Given the description of an element on the screen output the (x, y) to click on. 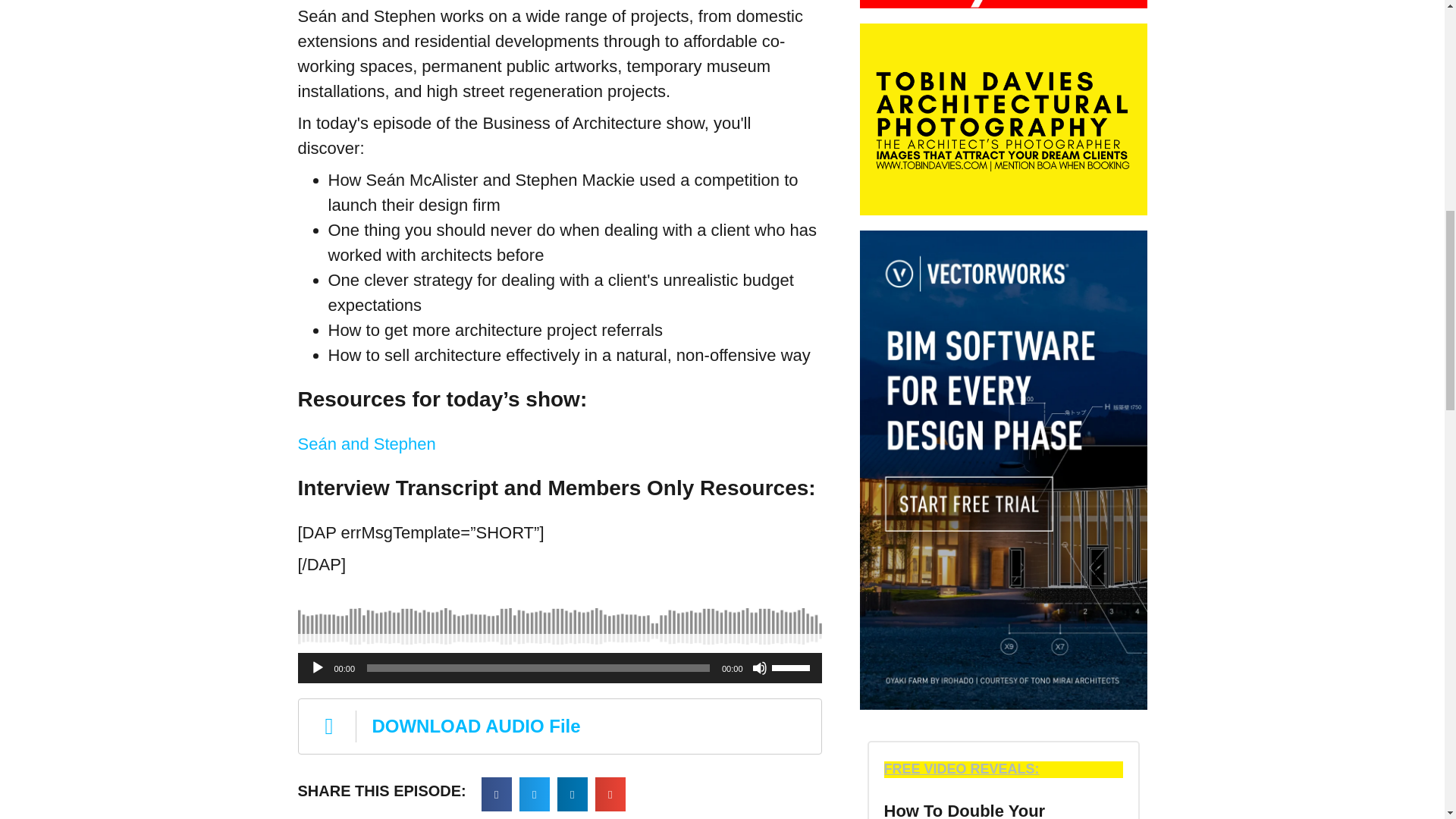
Mute (759, 667)
DOWNLOAD AUDIO File (559, 726)
Play (316, 667)
